Given the description of an element on the screen output the (x, y) to click on. 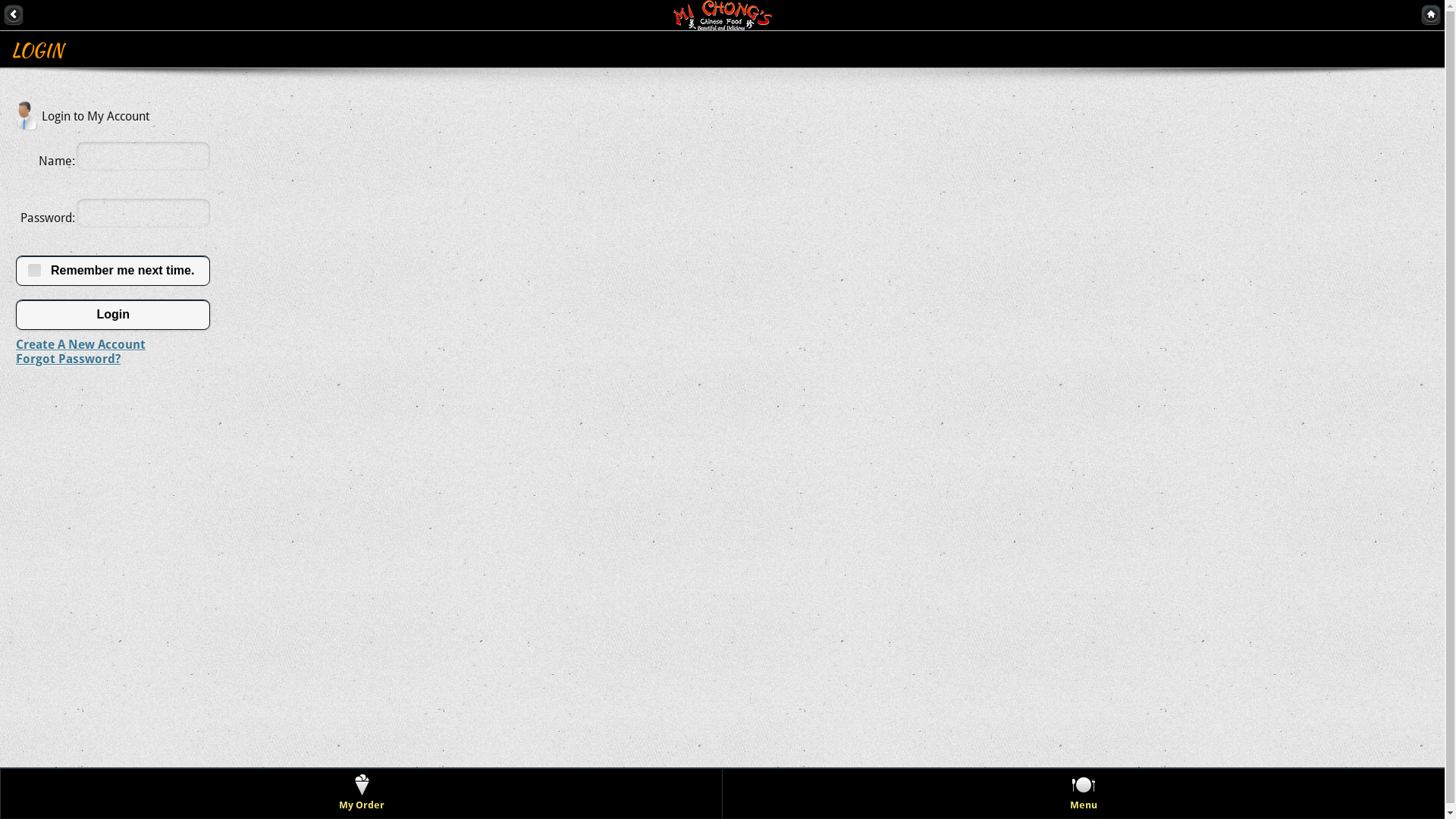
Create A New Account Element type: text (80, 344)
Back Element type: hover (13, 14)
Menu
  Element type: text (1083, 793)
My Order
  Element type: text (361, 793)
Forgot Password? Element type: text (67, 358)
Login Element type: text (112, 314)
Home Element type: hover (1430, 14)
  Element type: text (13, 14)
  Element type: text (1430, 14)
